Given the description of an element on the screen output the (x, y) to click on. 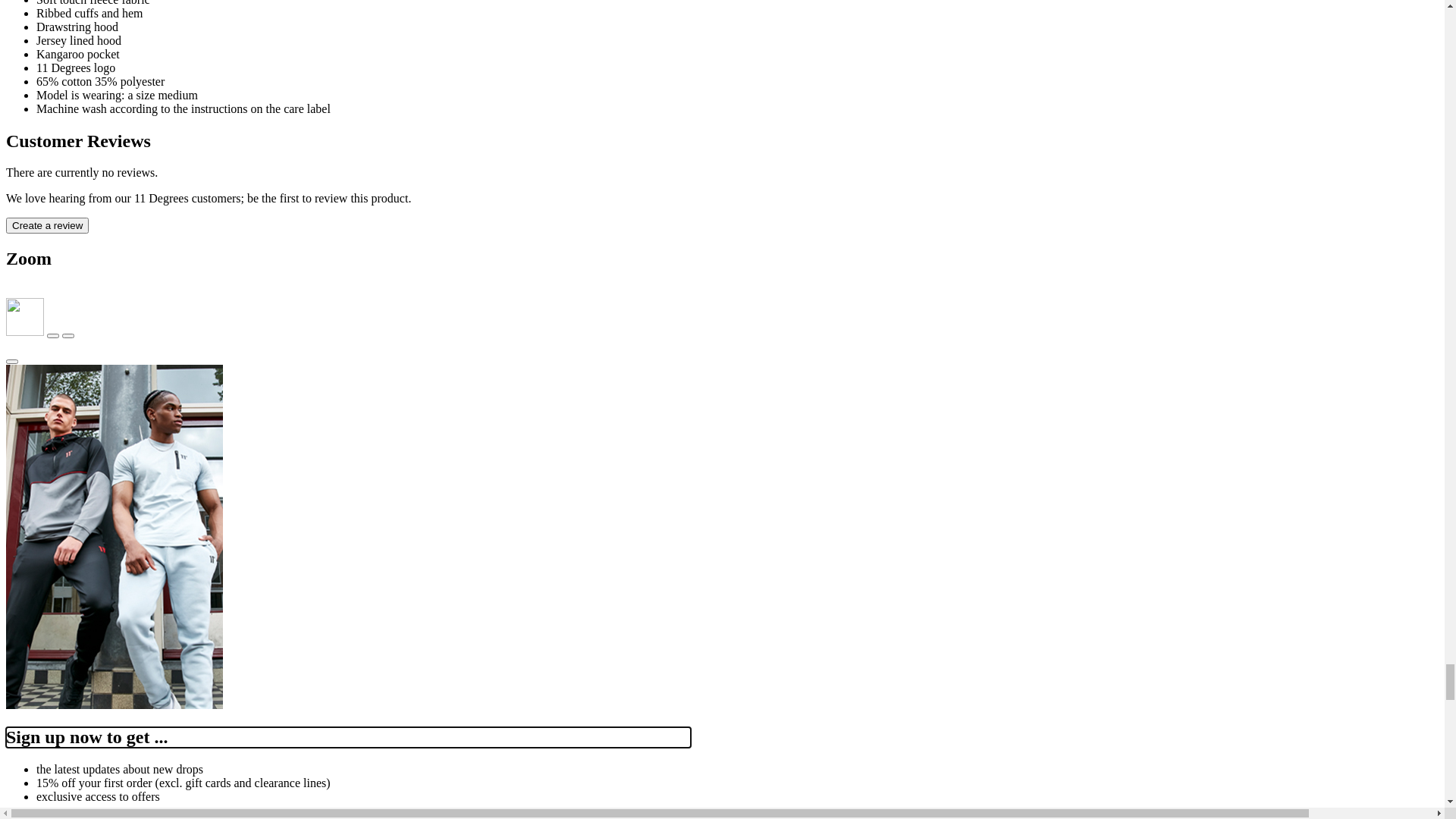
Skip to main content Element type: text (56, 65)
en - GBP Change Element type: text (51, 81)
Accept Element type: text (27, 51)
Help Element type: text (47, 121)
cookie policy Element type: text (1140, 24)
Contact us Element type: text (61, 107)
